Given the description of an element on the screen output the (x, y) to click on. 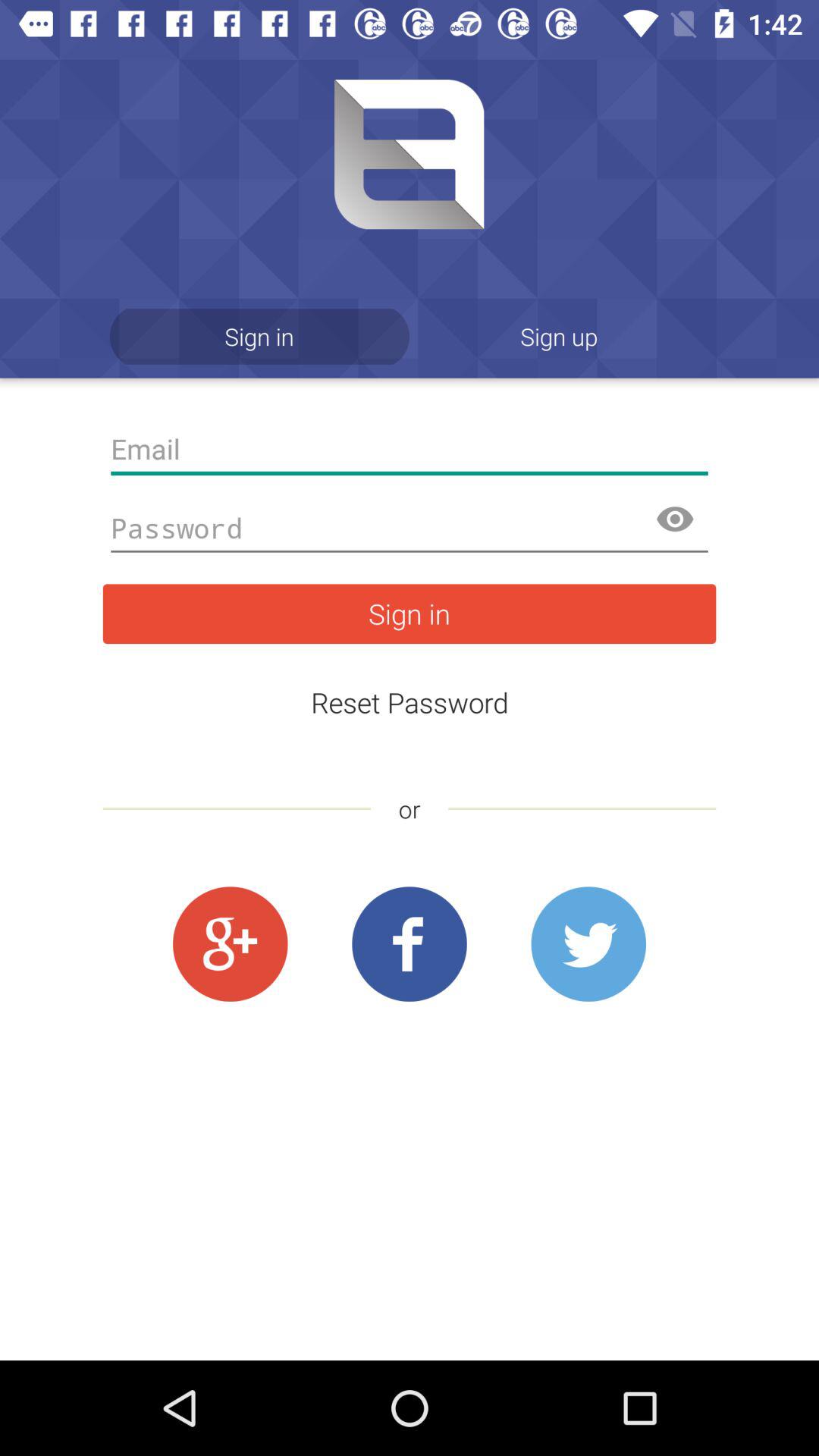
open the sign up icon (559, 336)
